Given the description of an element on the screen output the (x, y) to click on. 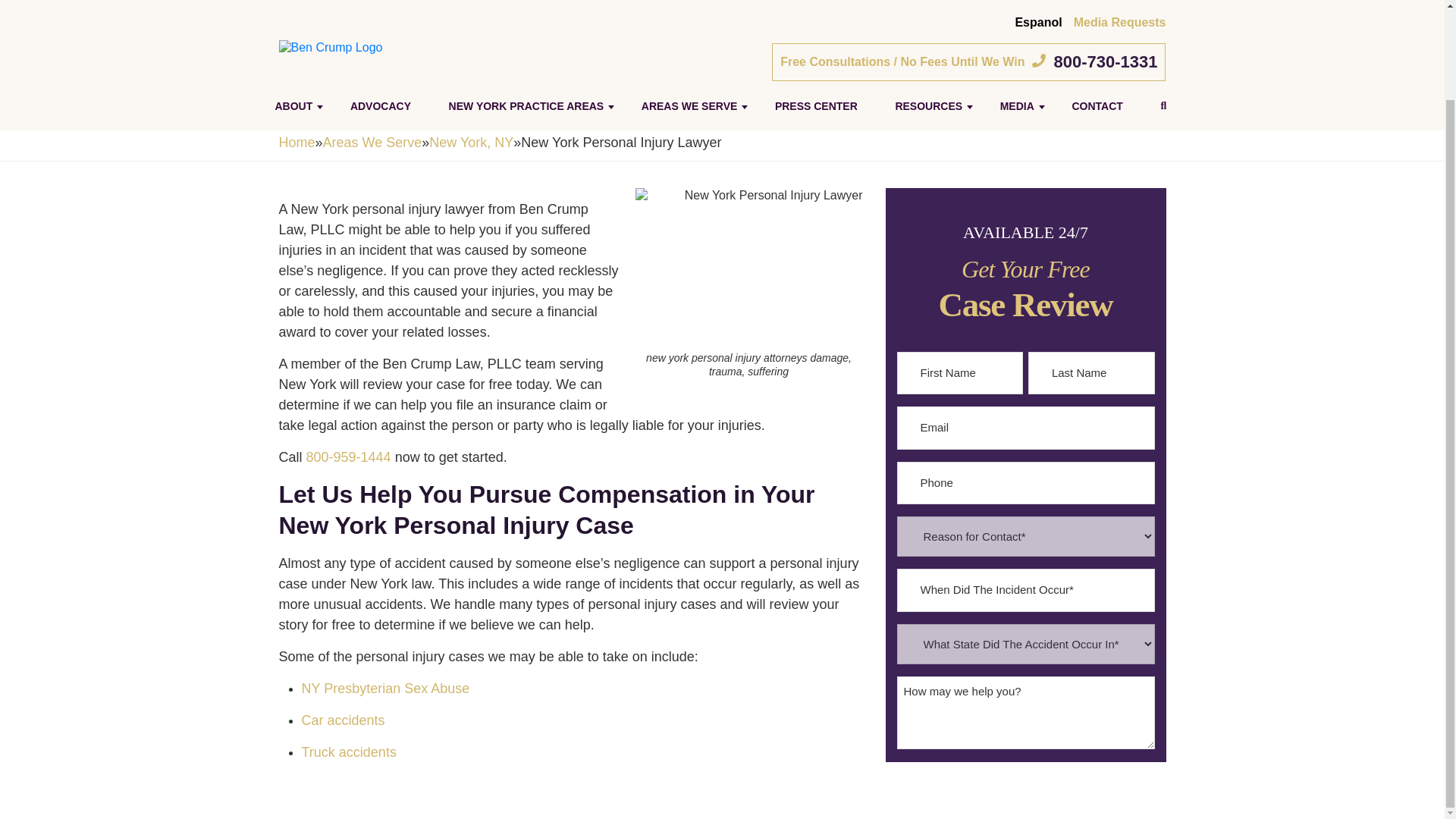
PRESS CENTER (815, 13)
RESOURCES (927, 13)
NEW YORK PRACTICE AREAS (526, 13)
ABOUT (293, 13)
AREAS WE SERVE (689, 13)
ADVOCACY (380, 13)
MEDIA (1017, 13)
